Given the description of an element on the screen output the (x, y) to click on. 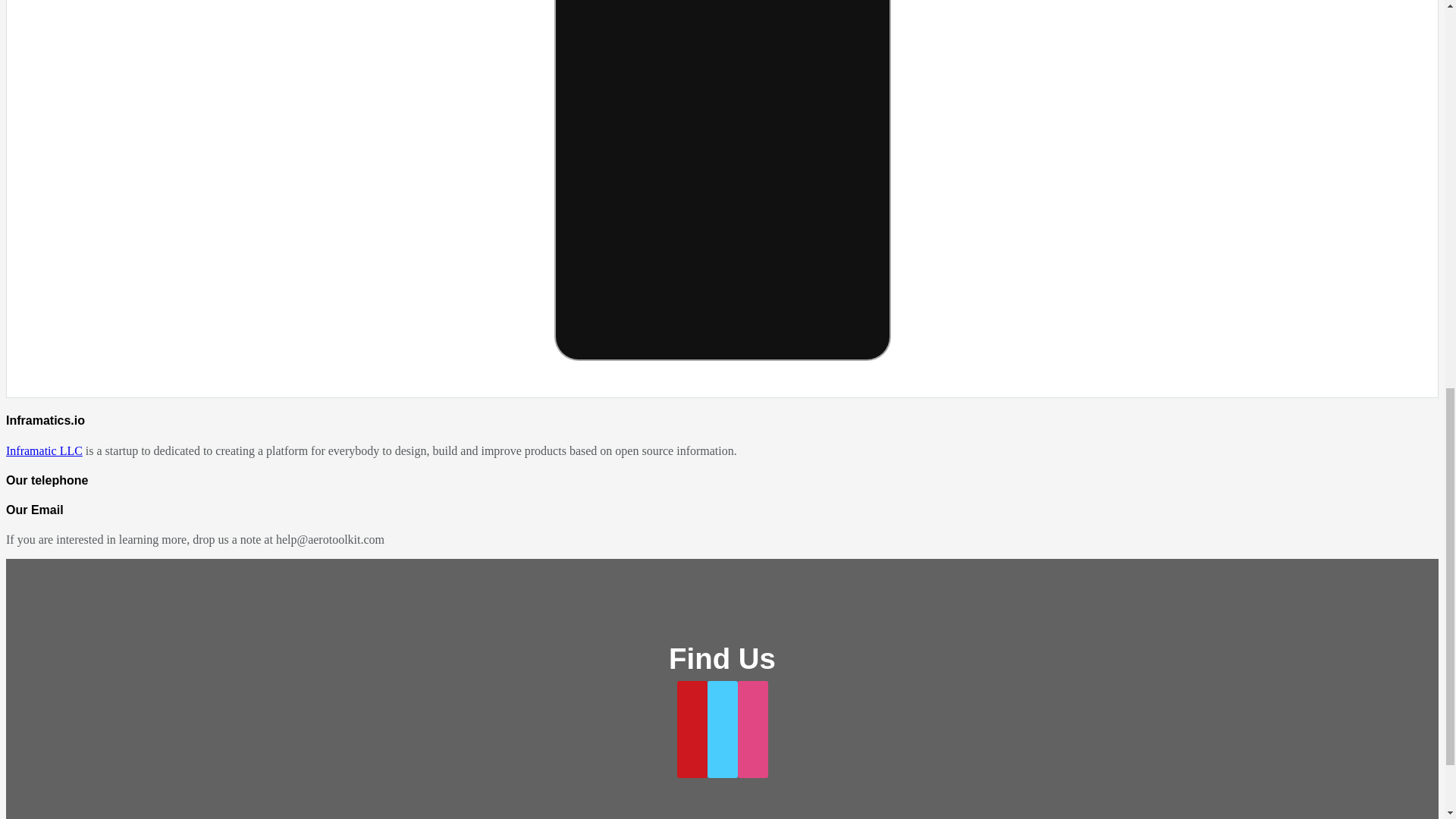
Inframatic LLC (43, 450)
